Given the description of an element on the screen output the (x, y) to click on. 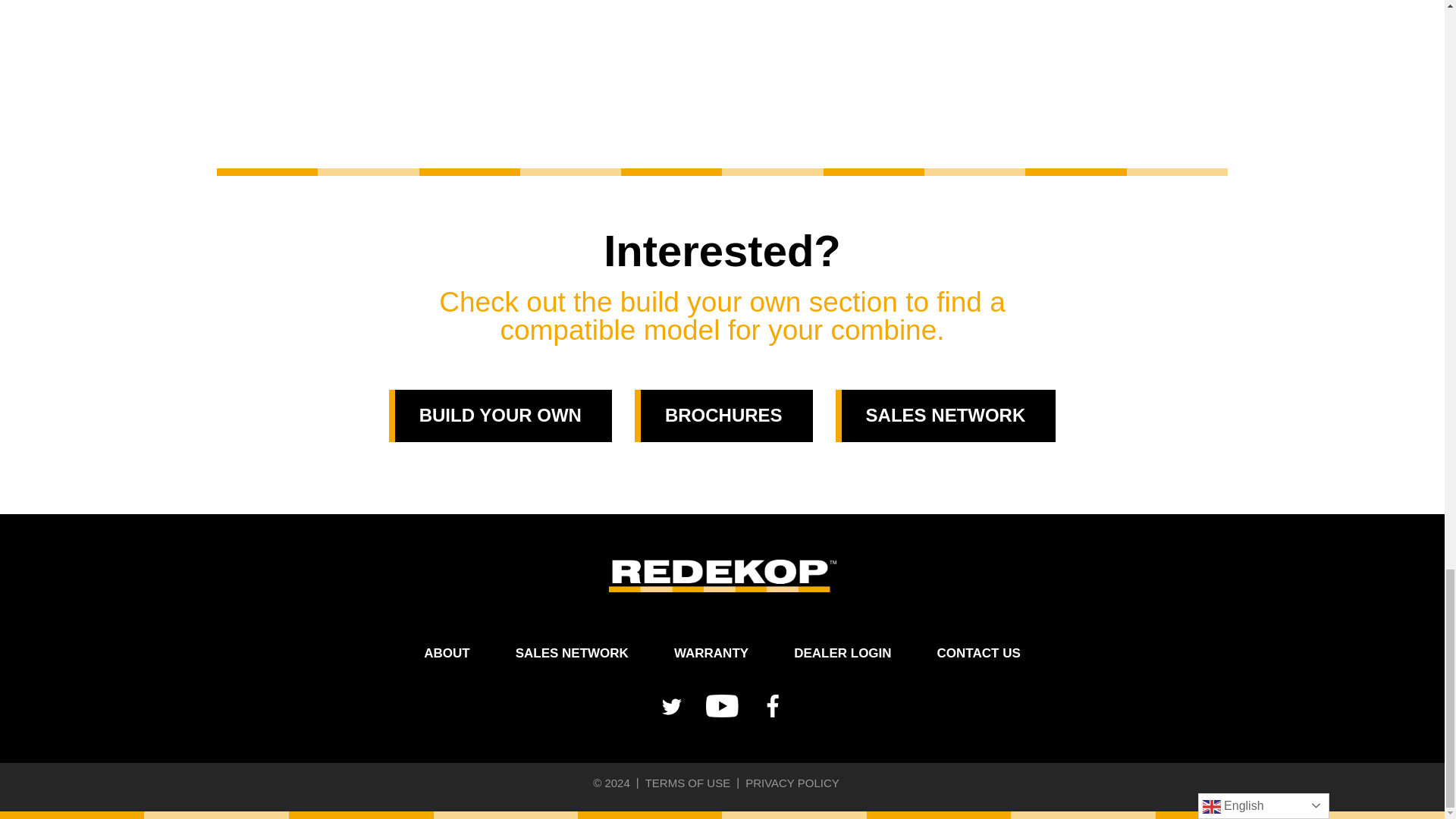
WARRANTY (711, 653)
PRIVACY POLICY (792, 782)
SALES NETWORK (946, 415)
SALES NETWORK (571, 653)
DEALER LOGIN (842, 653)
BROCHURES (723, 415)
BUILD YOUR OWN (499, 415)
CONTACT US (978, 653)
ABOUT (445, 653)
TERMS OF USE (687, 782)
